Given the description of an element on the screen output the (x, y) to click on. 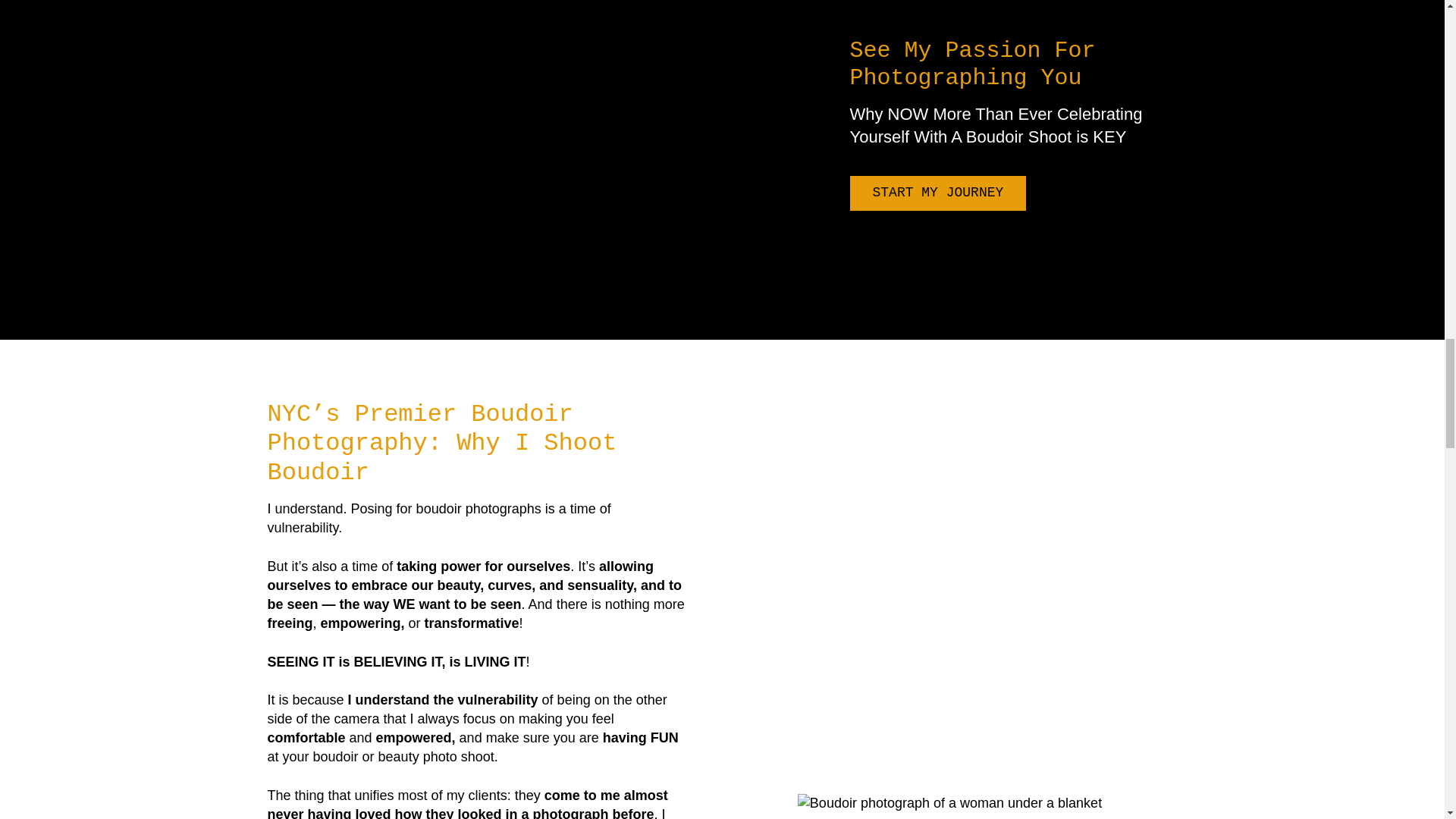
START MY JOURNEY (937, 192)
New York City boudoir portrait of a client laying down (949, 803)
